Given the description of an element on the screen output the (x, y) to click on. 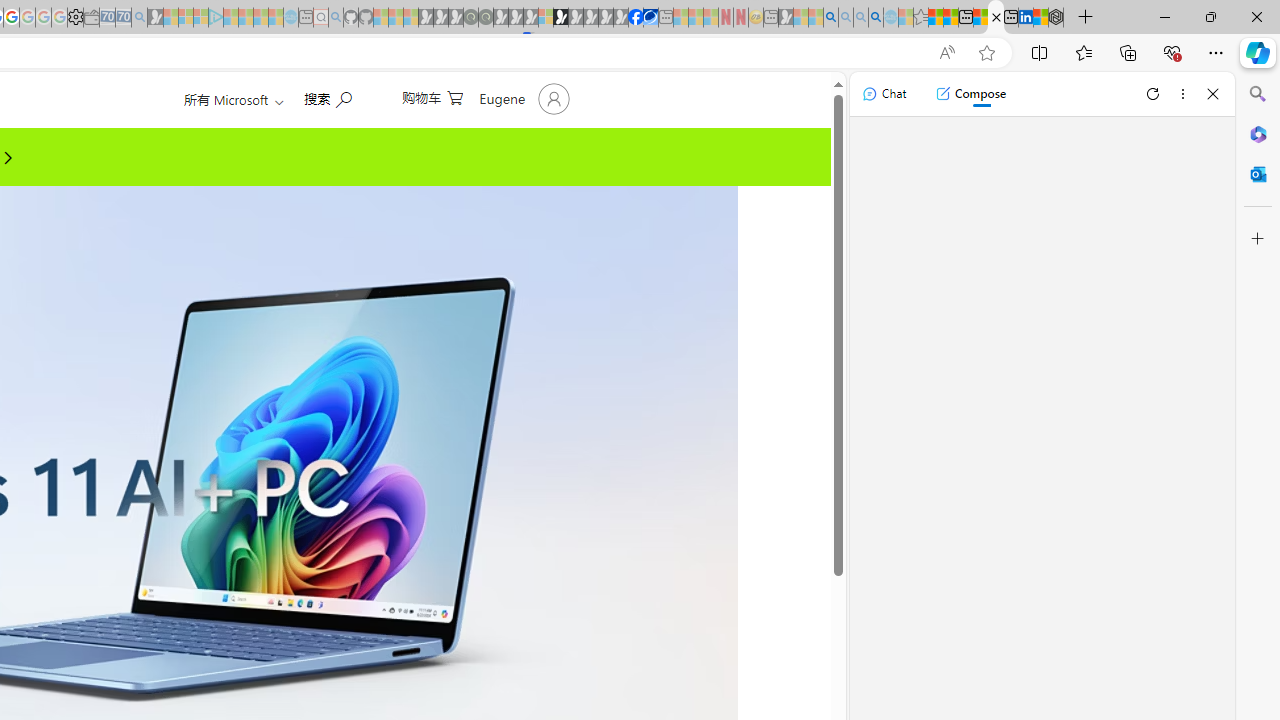
Bing Real Estate - Home sales and rental listings - Sleeping (139, 17)
MSN - Sleeping (786, 17)
Compose (970, 93)
Wallet - Sleeping (91, 17)
